Given the description of an element on the screen output the (x, y) to click on. 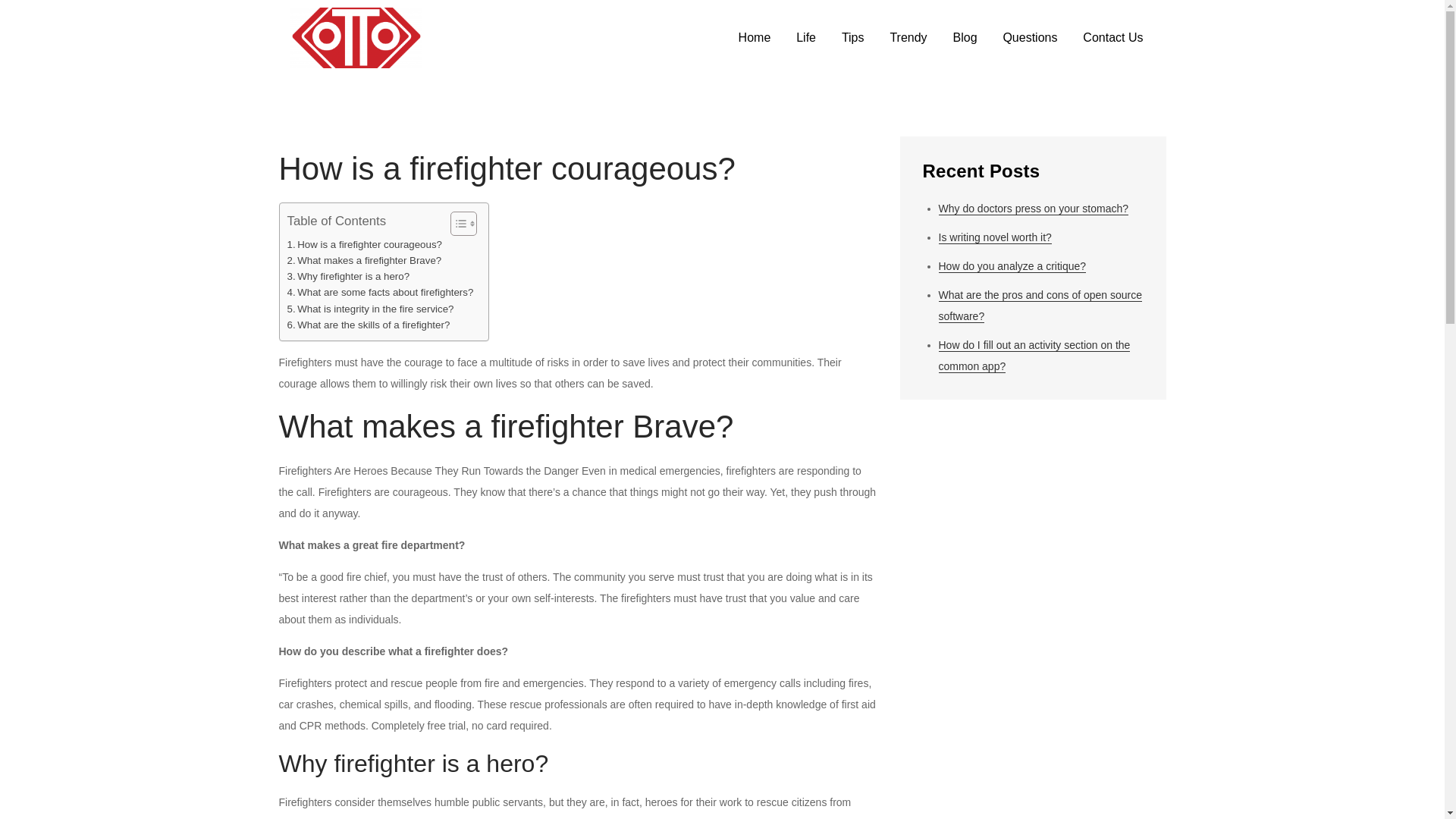
How do I fill out an activity section on the common app? (1035, 356)
How do you analyze a critique? (1012, 266)
What are the skills of a firefighter? (367, 324)
Ottovonschirach.com (536, 49)
Contact Us (1112, 38)
What is integrity in the fire service? (369, 308)
Why do doctors press on your stomach? (1034, 208)
Questions (1029, 38)
Why firefighter is a hero? (347, 276)
How is a firefighter courageous? (363, 244)
